Given the description of an element on the screen output the (x, y) to click on. 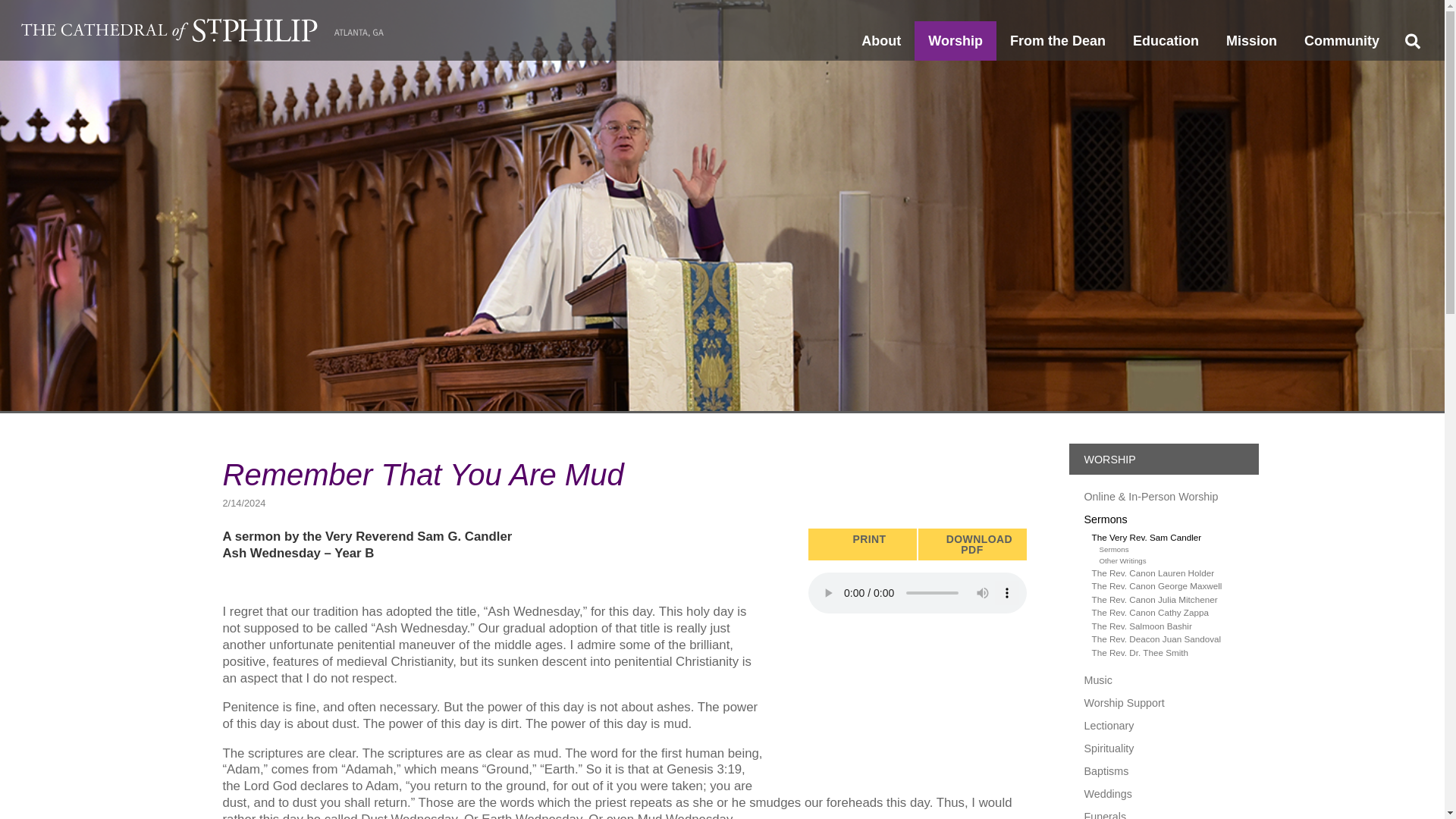
Worship (954, 40)
About (880, 40)
